Given the description of an element on the screen output the (x, y) to click on. 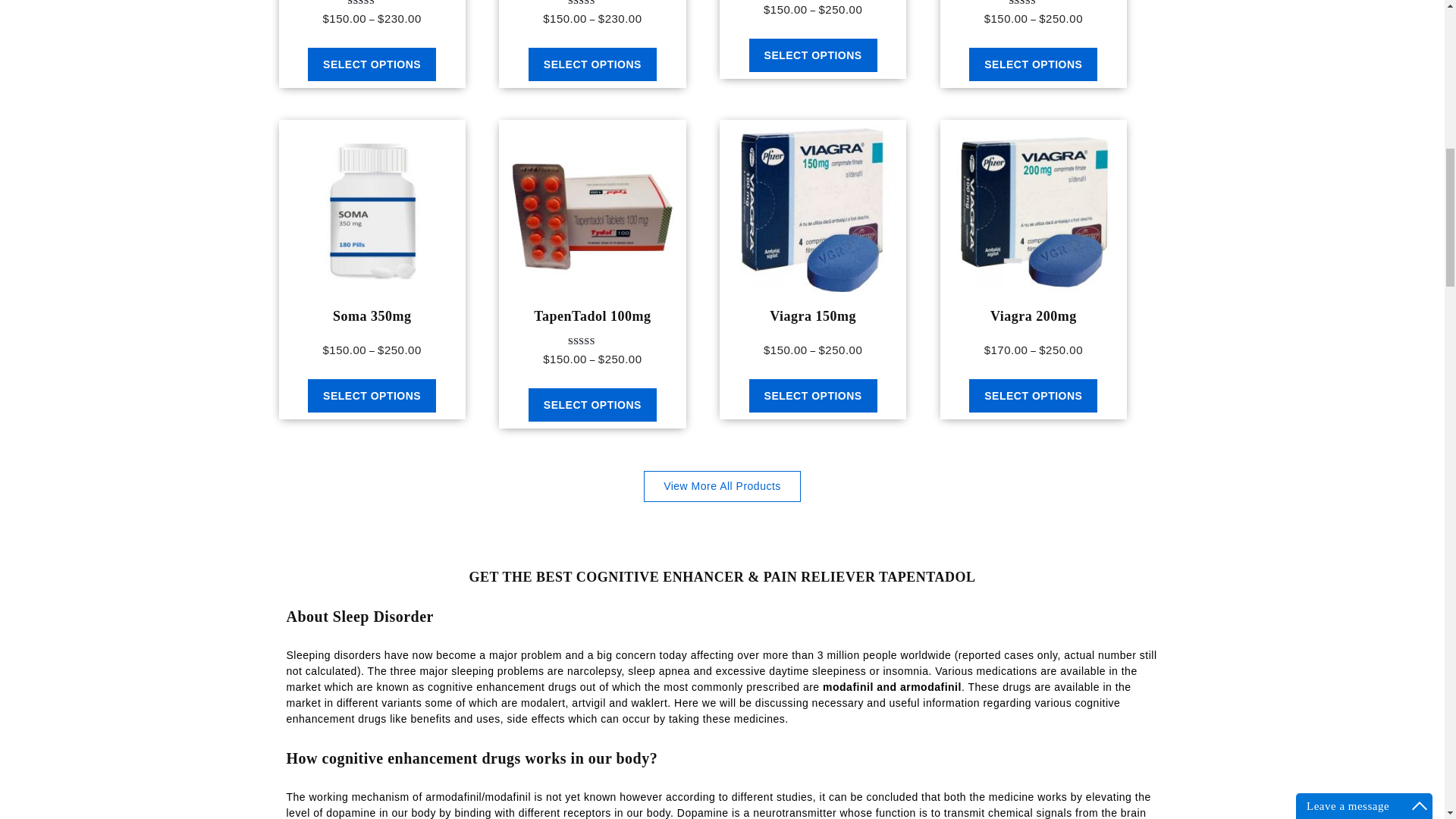
SELECT OPTIONS (592, 404)
SELECT OPTIONS (1033, 395)
View More All Products (721, 486)
SELECT OPTIONS (813, 395)
SELECT OPTIONS (371, 395)
SELECT OPTIONS (1033, 64)
SELECT OPTIONS (371, 64)
SELECT OPTIONS (592, 64)
SELECT OPTIONS (813, 55)
